Given the description of an element on the screen output the (x, y) to click on. 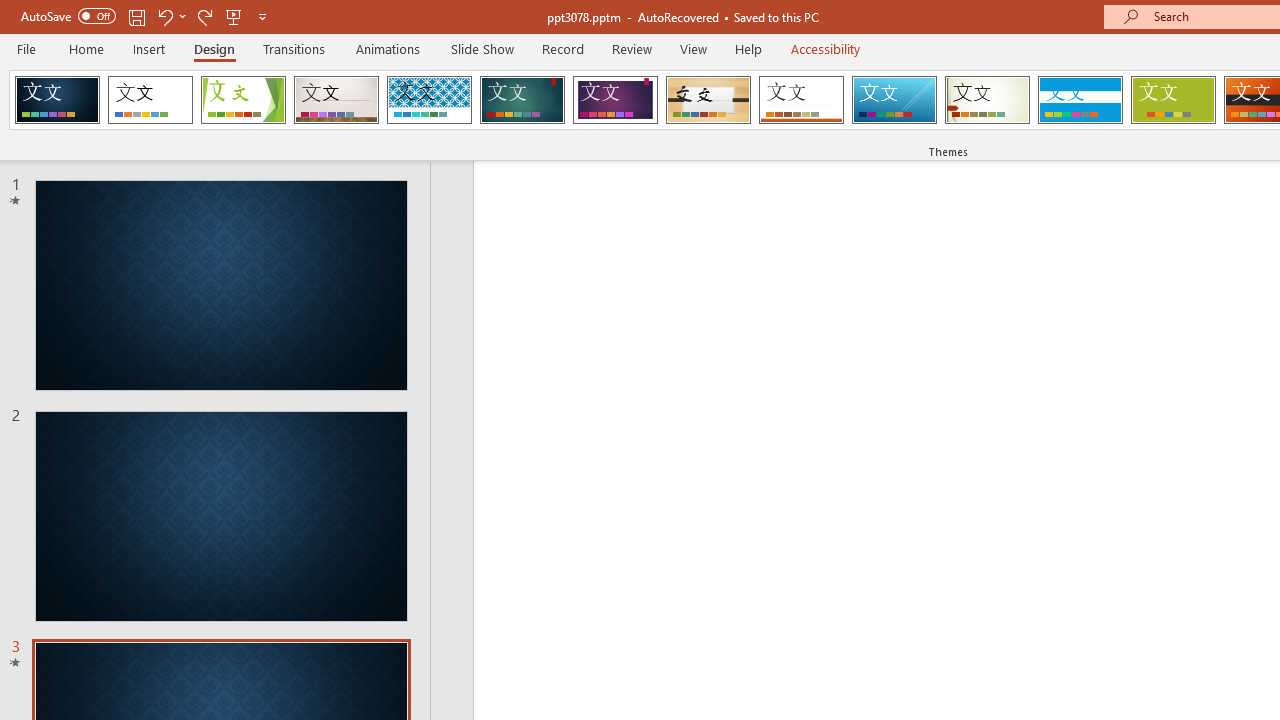
Banded (1080, 100)
Ion Boardroom (615, 100)
Retrospect (801, 100)
